Given the description of an element on the screen output the (x, y) to click on. 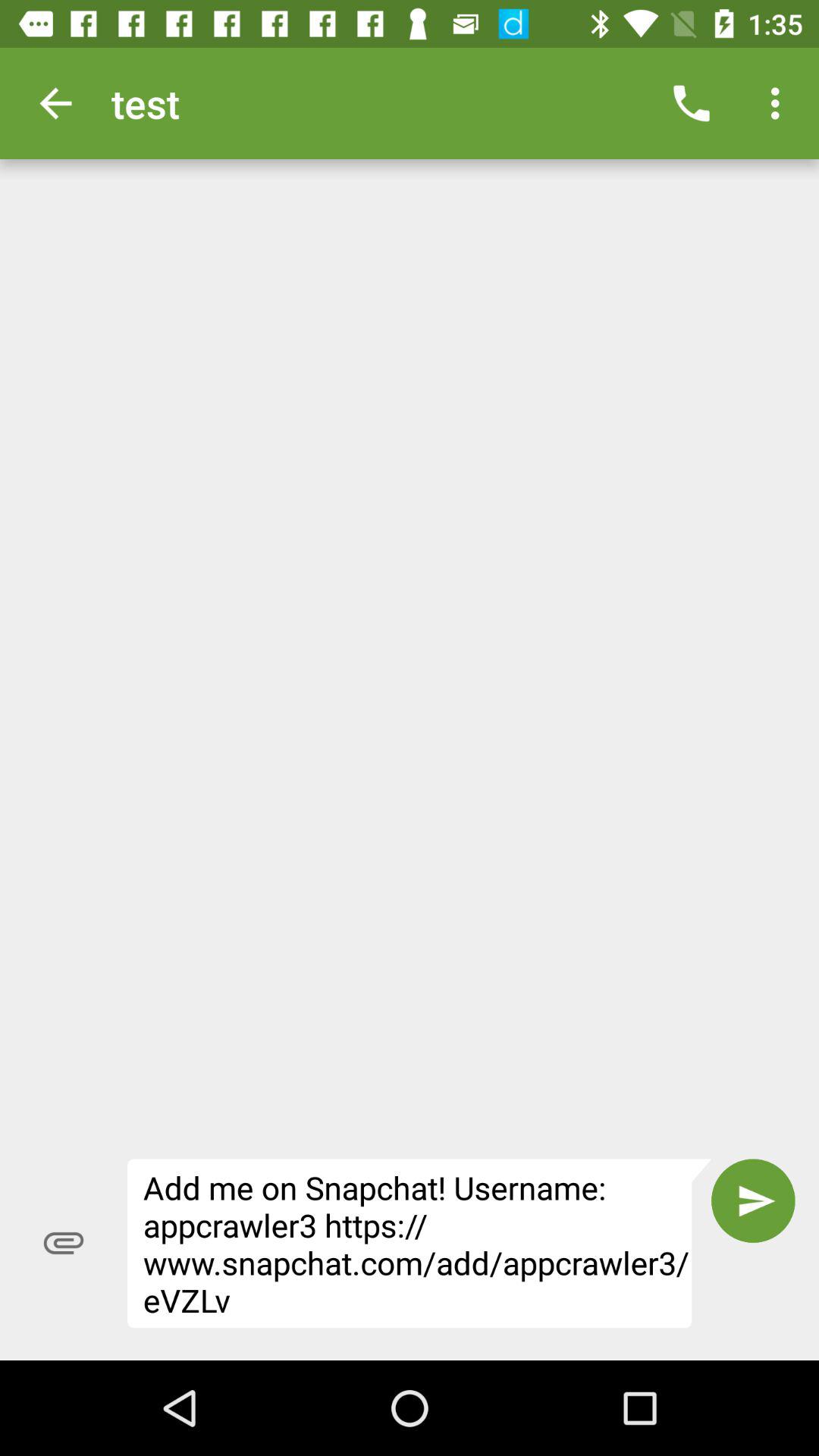
turn off item next to the add me on icon (63, 1243)
